Given the description of an element on the screen output the (x, y) to click on. 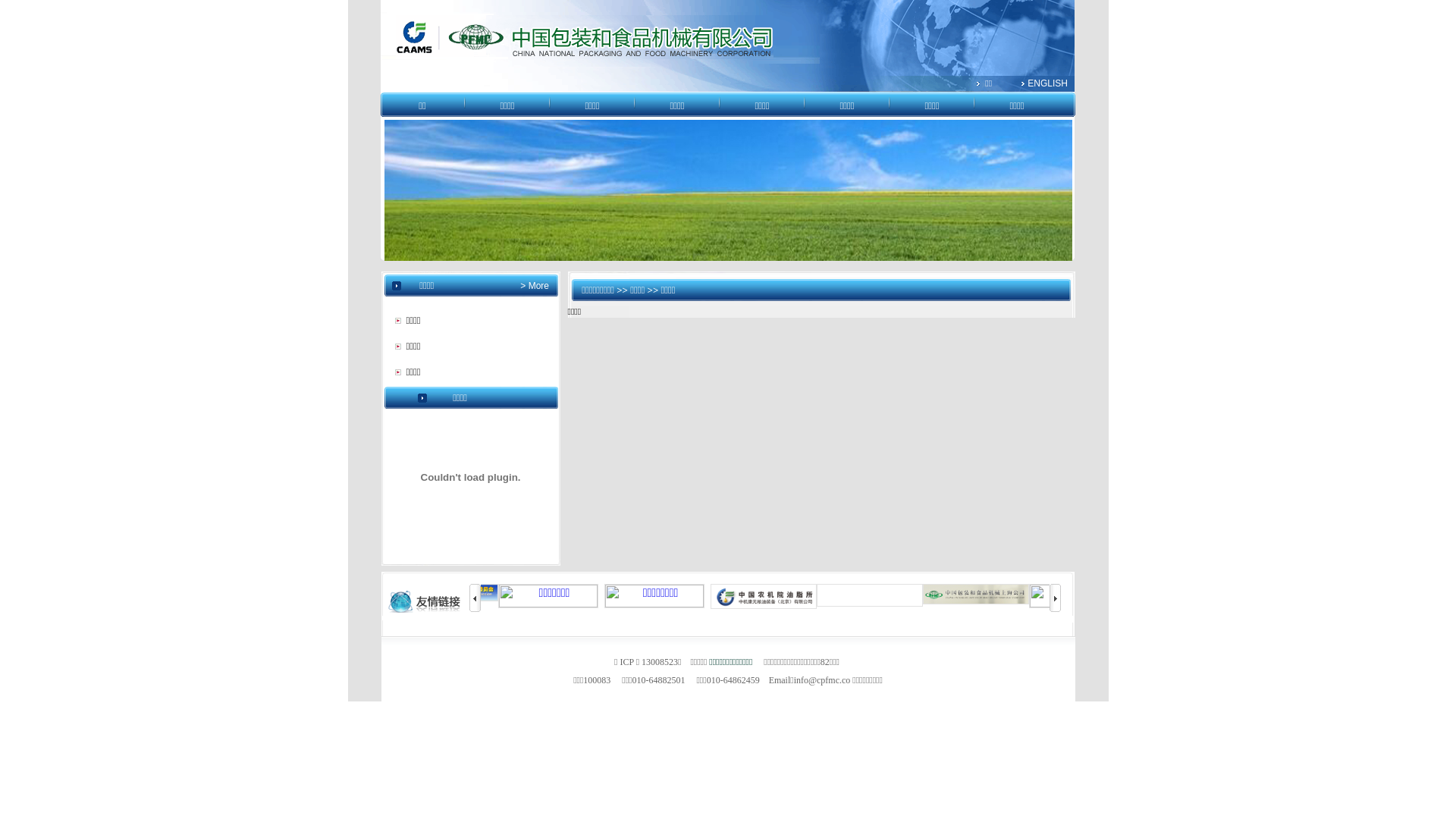
 More Element type: text (537, 285)
ENGLISH Element type: text (1047, 83)
